Given the description of an element on the screen output the (x, y) to click on. 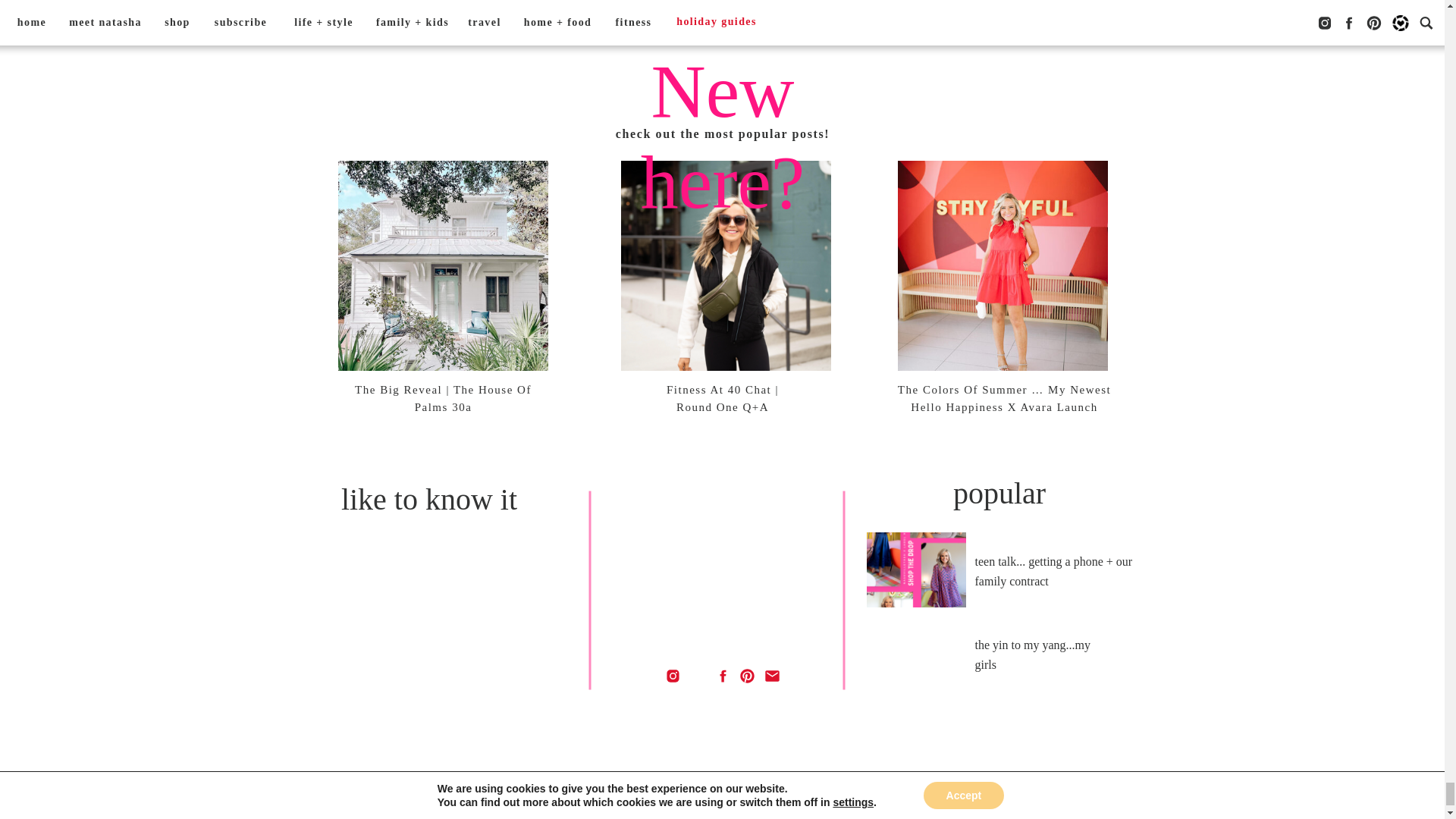
ZLP03919 (484, 770)
ZLP09876 (959, 770)
